Given the description of an element on the screen output the (x, y) to click on. 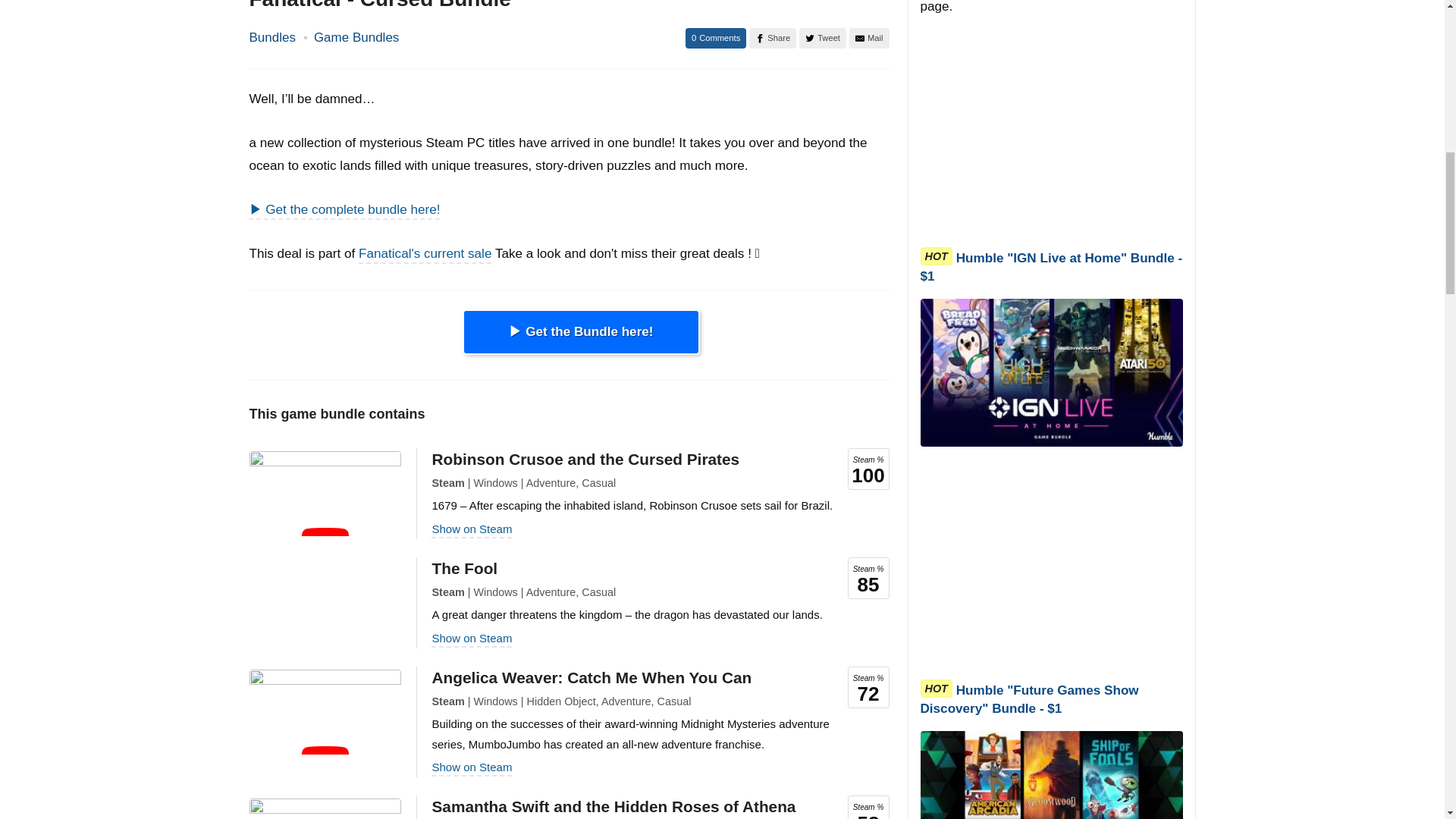
Send email about Fanatical - Cursed Bundle to your friends. (868, 38)
Bundles (271, 37)
Show on Steam (472, 766)
Tweet about Fanatical - Cursed Bundle on Twitter. (822, 38)
0 (715, 38)
Mail (868, 38)
Advertisement (1051, 133)
Advertisement (1051, 565)
Tweet (822, 38)
Share Fanatical - Cursed Bundle on Facebook. (772, 38)
Fanatical's current sale (425, 253)
Show on Steam (472, 528)
Game Bundles (356, 37)
Buy Cursed Bundle from Fanatical here. (581, 331)
Show on Steam (472, 637)
